Given the description of an element on the screen output the (x, y) to click on. 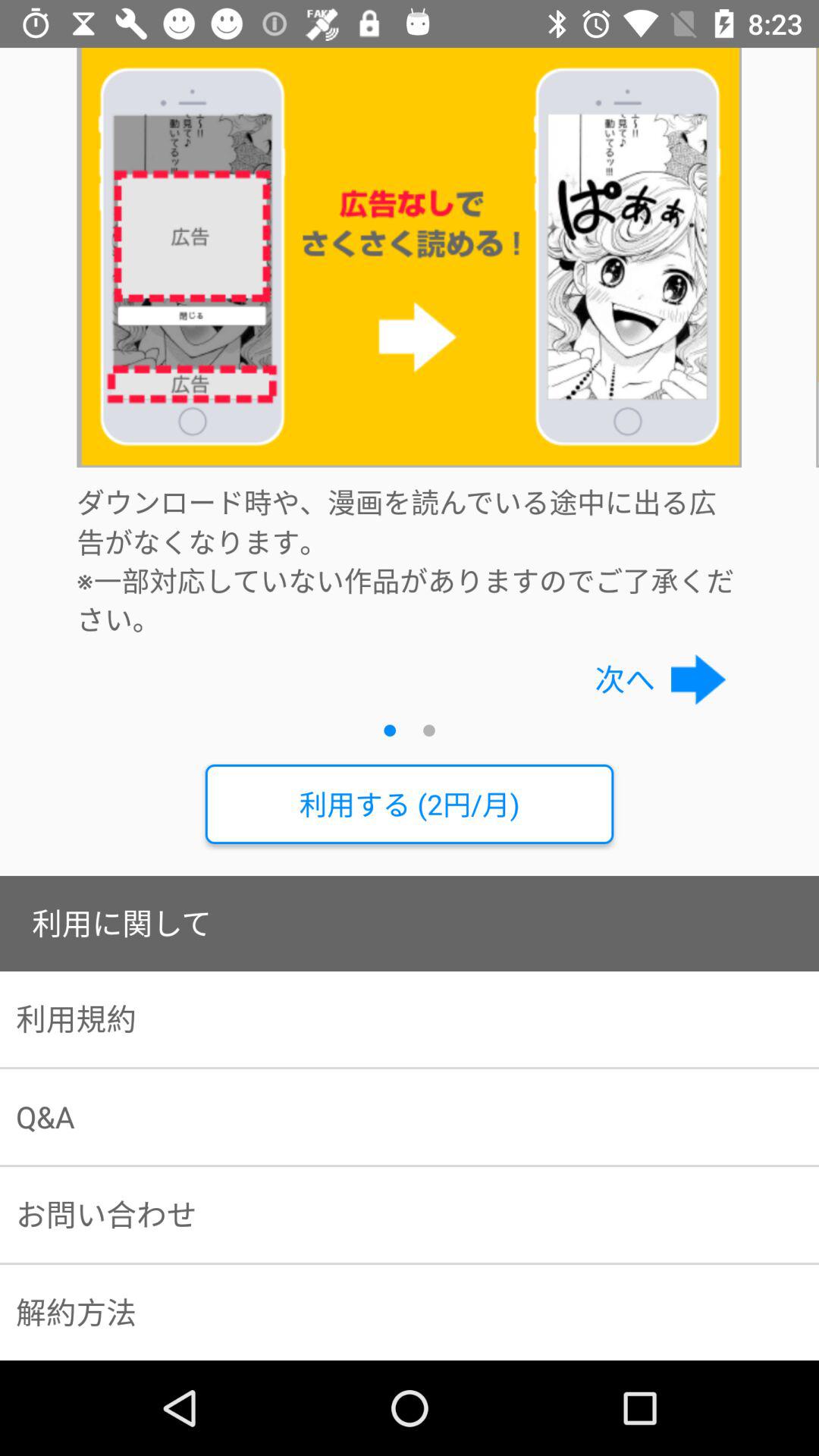
turn off the item below the q&a item (409, 1214)
